Given the description of an element on the screen output the (x, y) to click on. 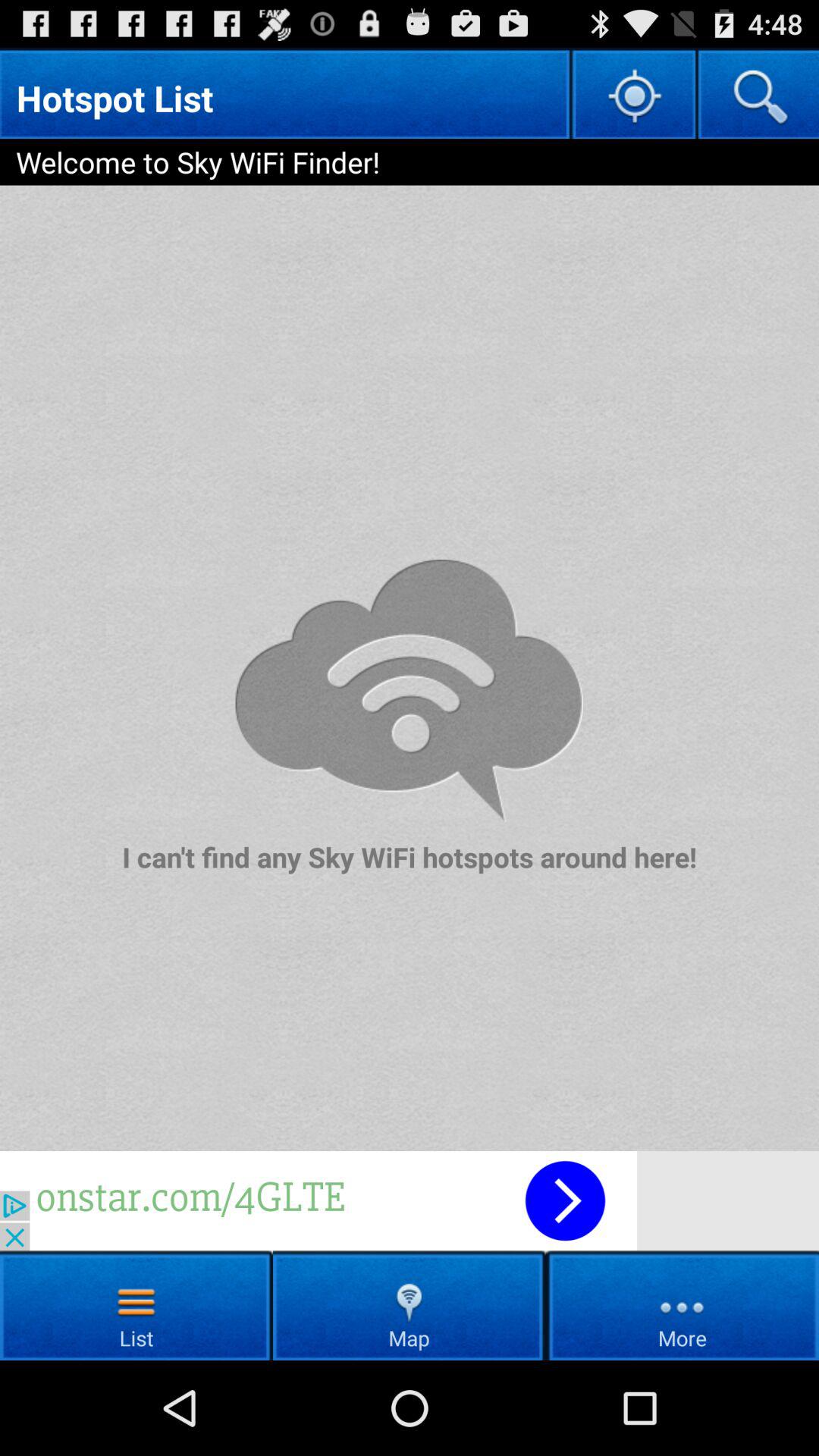
open advertisement (409, 1200)
